Given the description of an element on the screen output the (x, y) to click on. 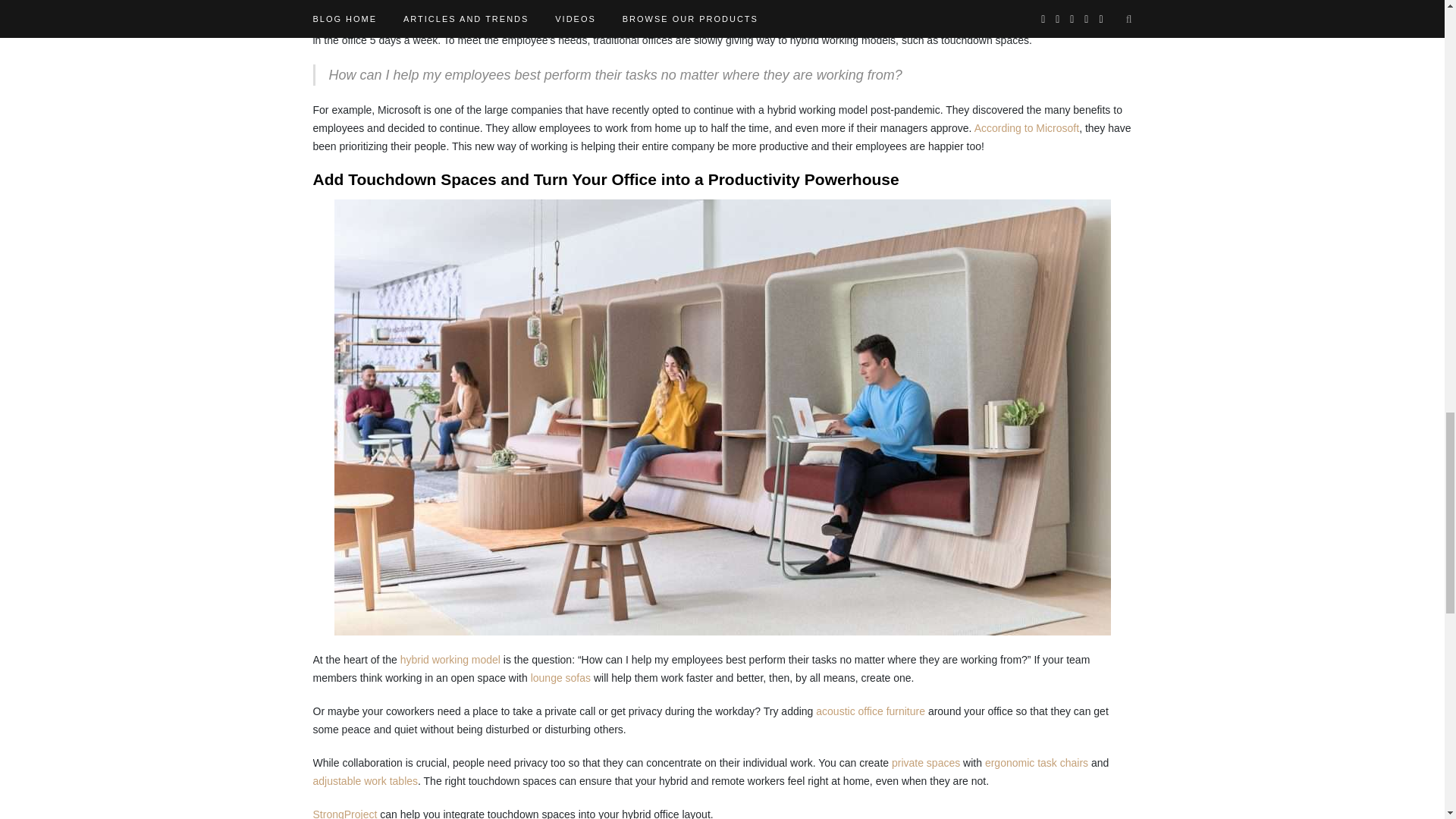
ergonomic task chairs (1036, 762)
acoustic office furniture (869, 711)
adjustable work tables (365, 780)
StrongProject (345, 813)
hybrid working model (450, 659)
According to Microsoft (1027, 128)
private spaces (925, 762)
lounge sofas (561, 677)
